Given the description of an element on the screen output the (x, y) to click on. 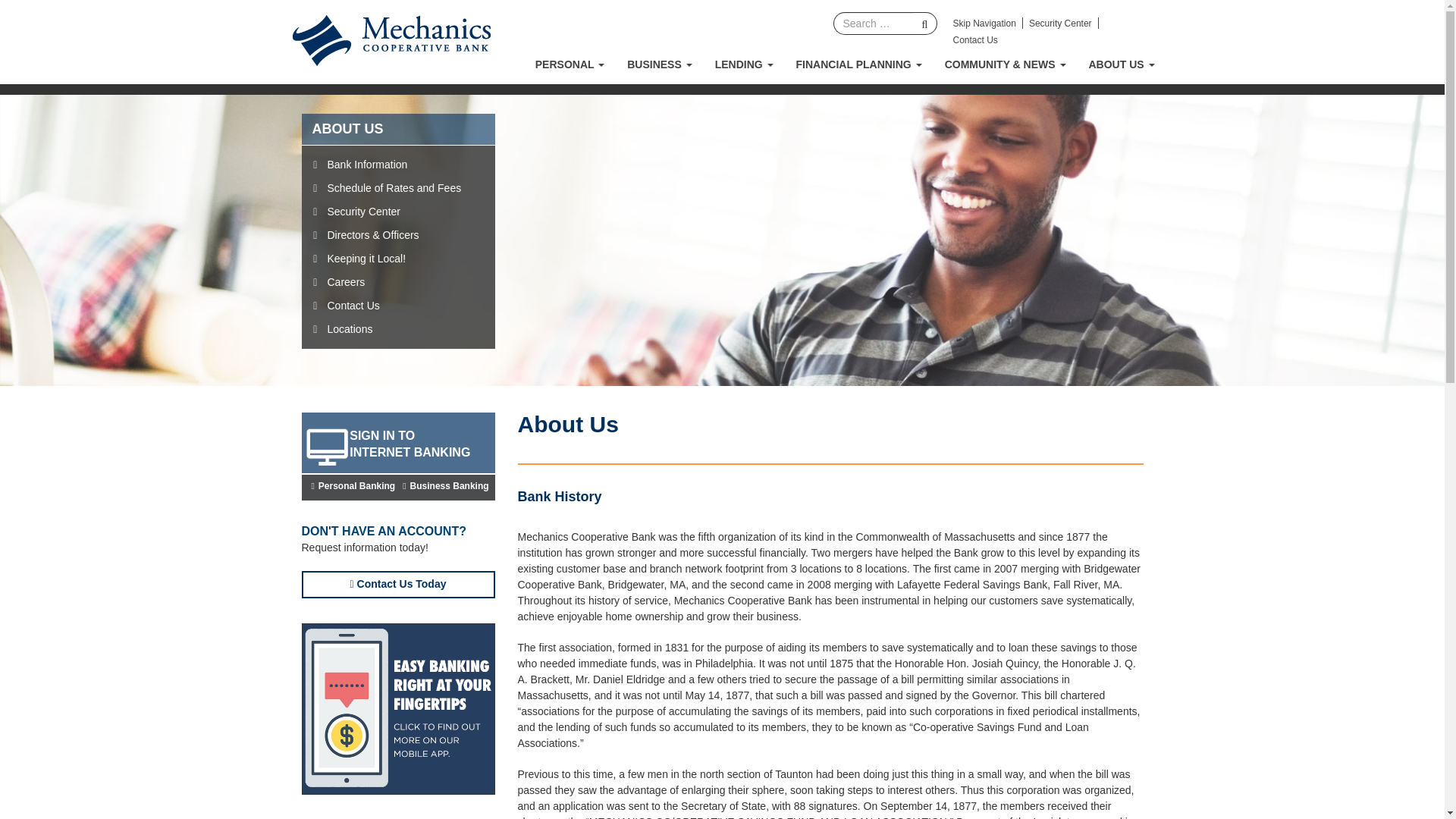
LENDING (743, 64)
Business (659, 64)
Lending (743, 64)
Search for: (872, 23)
FINANCIAL PLANNING (858, 64)
PERSONAL (569, 64)
BUSINESS (659, 64)
ABOUT US (1121, 64)
Security Center (1060, 23)
Skip Navigation (983, 23)
Personal (569, 64)
Contact Us (974, 40)
